Given the description of an element on the screen output the (x, y) to click on. 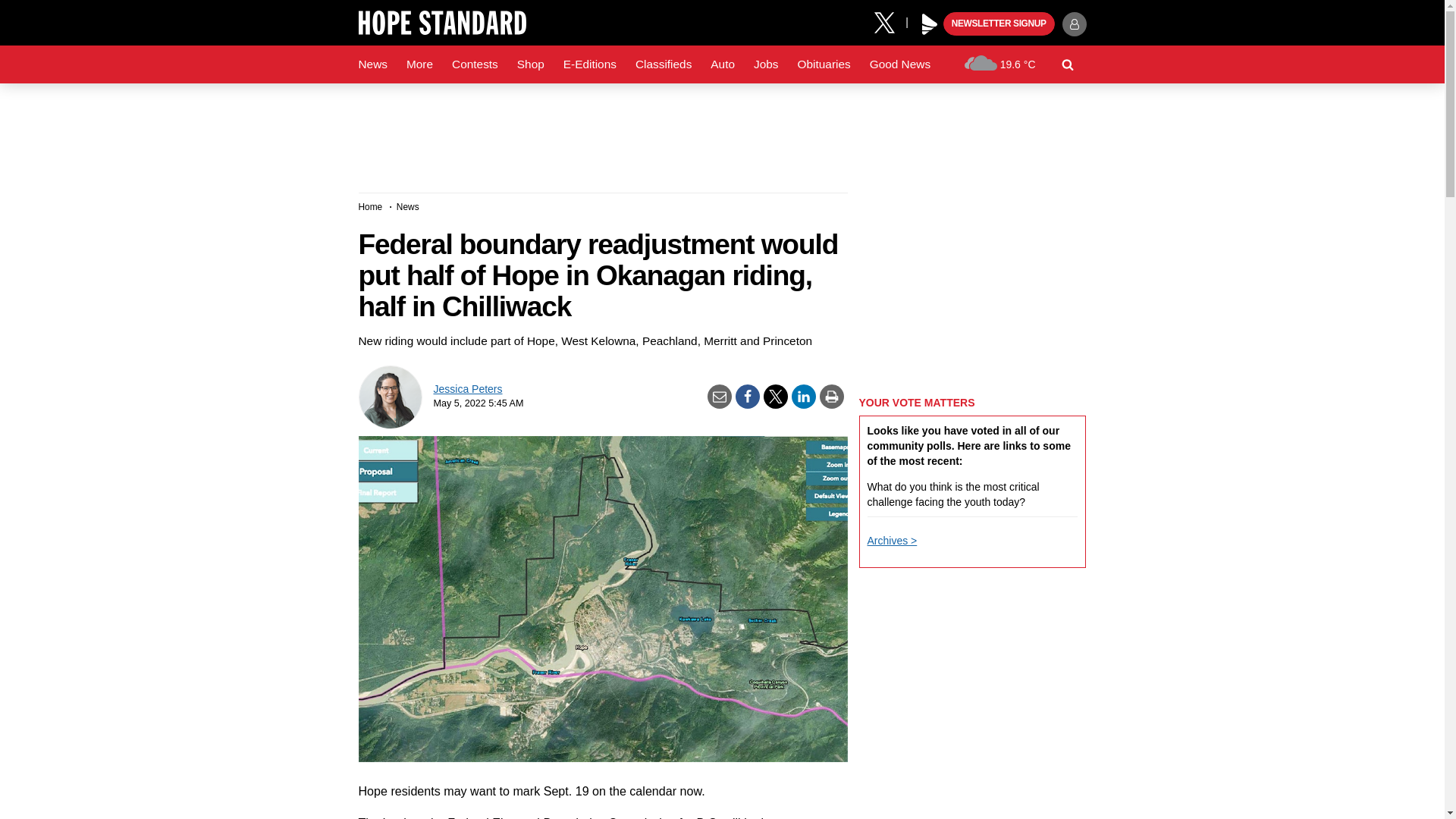
Black Press Media (929, 24)
X (889, 21)
Play (929, 24)
NEWSLETTER SIGNUP (998, 24)
News (372, 64)
